Given the description of an element on the screen output the (x, y) to click on. 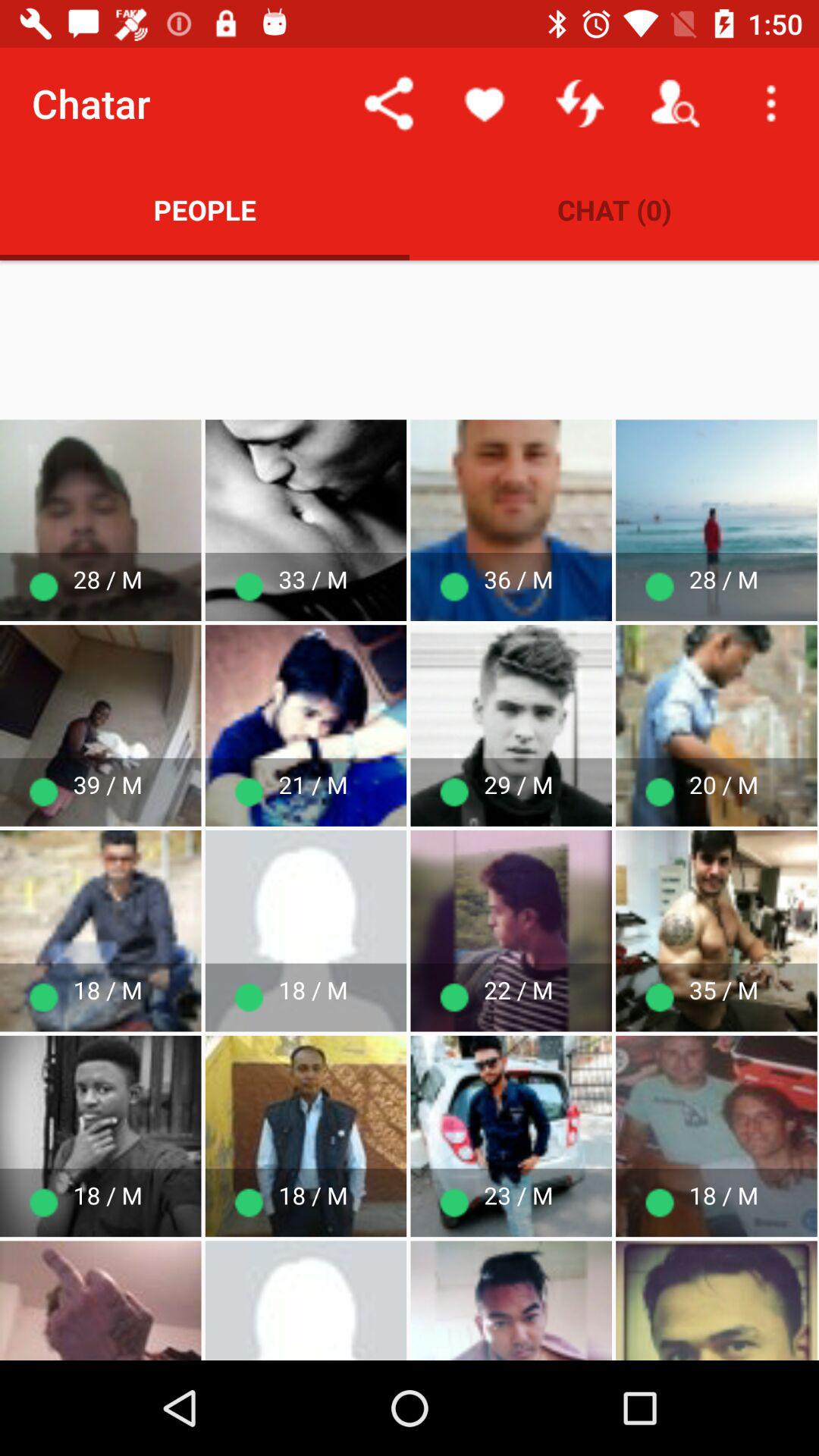
click the people app (204, 209)
